Given the description of an element on the screen output the (x, y) to click on. 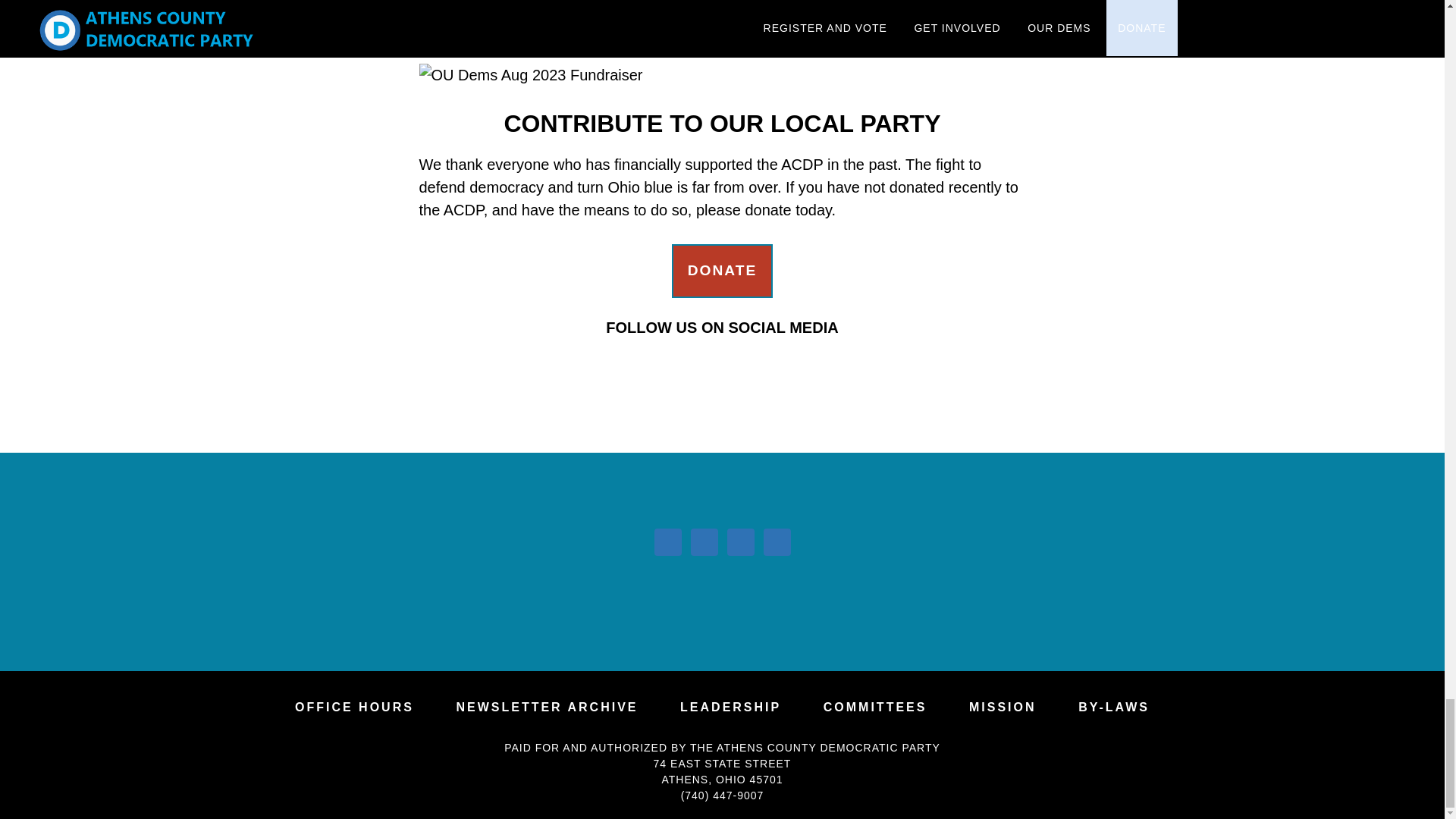
LEADERSHIP (730, 707)
OFFICE HOURS (354, 707)
NEWSLETTER ARCHIVE (546, 707)
MISSION (1002, 707)
COMMITTEES (875, 707)
DONATE (722, 271)
BY-LAWS (1114, 707)
